Given the description of an element on the screen output the (x, y) to click on. 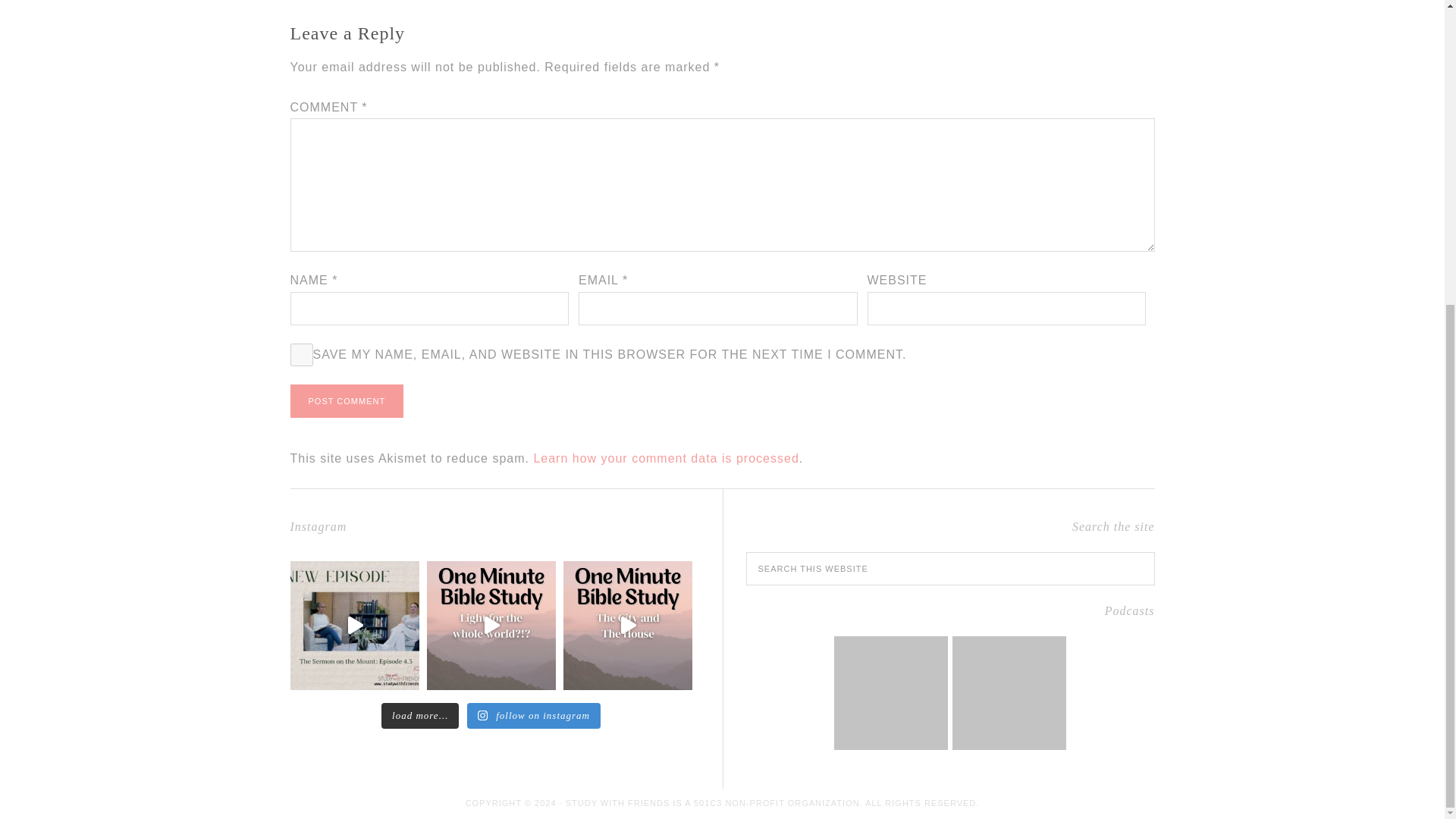
Learn how your comment data is processed (664, 458)
follow on instagram (533, 715)
Post Comment (346, 400)
load more... (419, 715)
Post Comment (346, 400)
yes (301, 354)
